Given the description of an element on the screen output the (x, y) to click on. 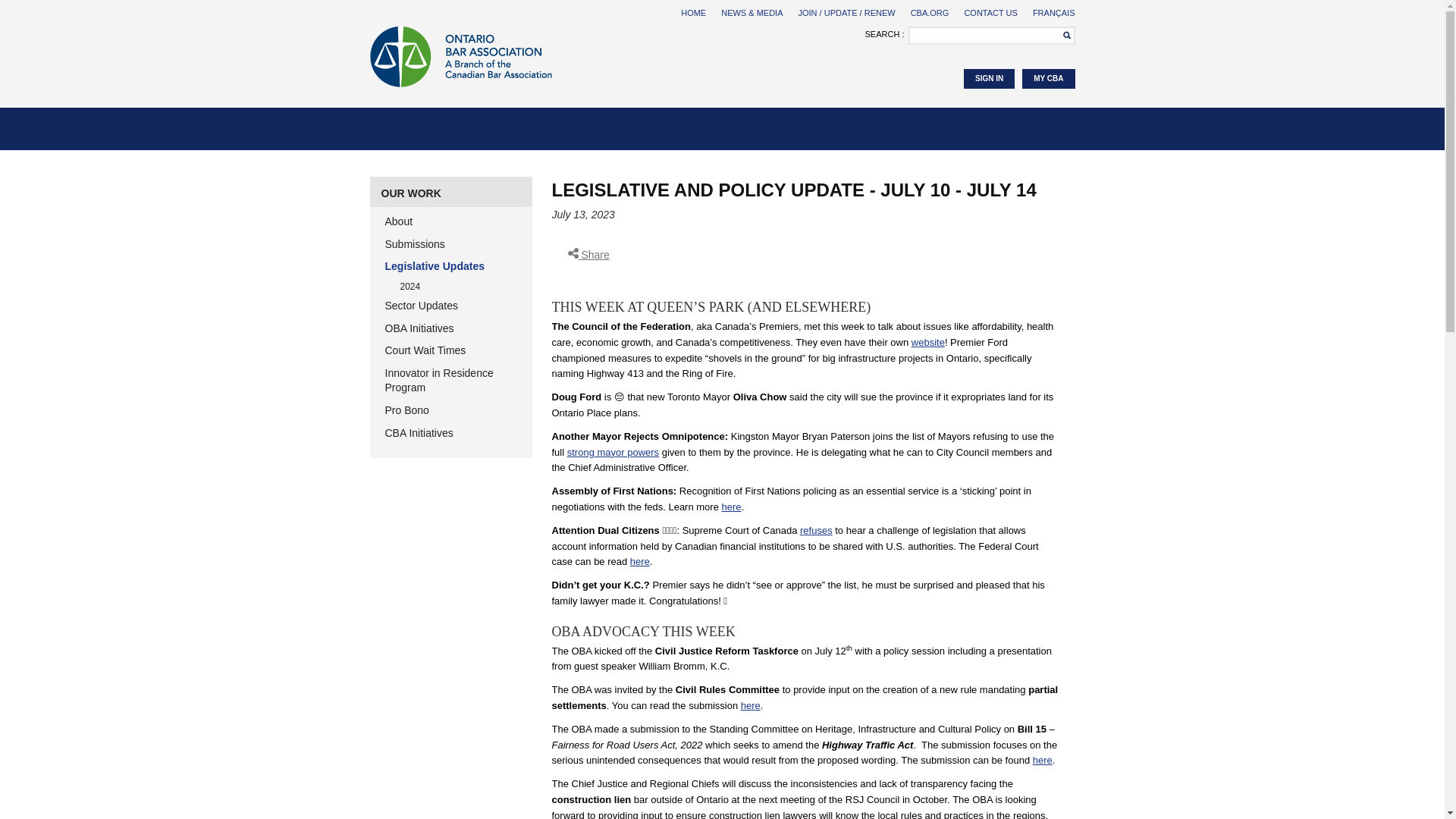
SIGN IN (988, 78)
HOME (693, 12)
CBA.ORG (930, 12)
Search (1062, 35)
MY CBA (1048, 78)
CONTACT US (990, 12)
Search (1062, 35)
